Given the description of an element on the screen output the (x, y) to click on. 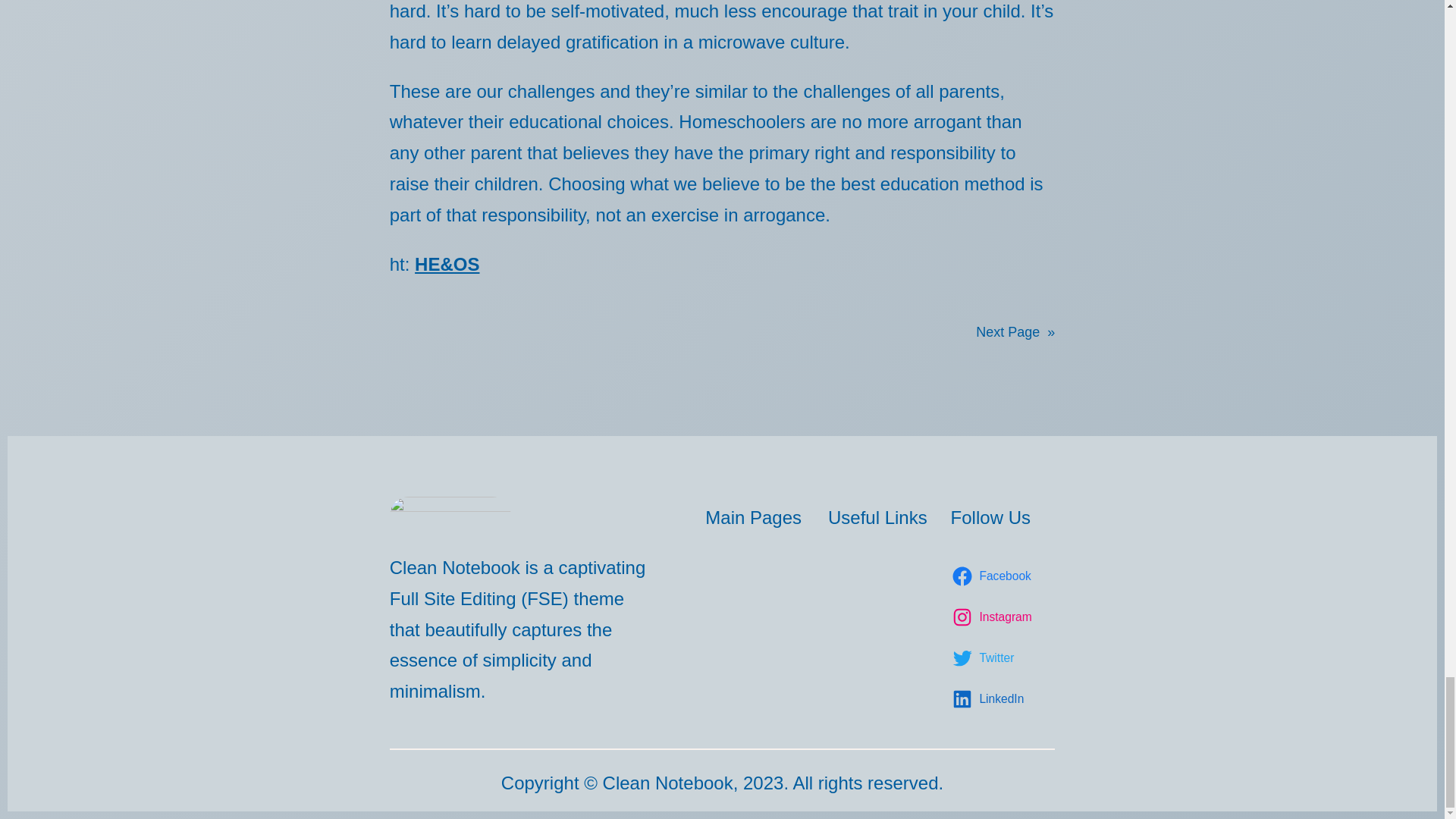
Instagram (994, 617)
LinkedIn (990, 698)
Twitter (985, 658)
Facebook (993, 576)
